Given the description of an element on the screen output the (x, y) to click on. 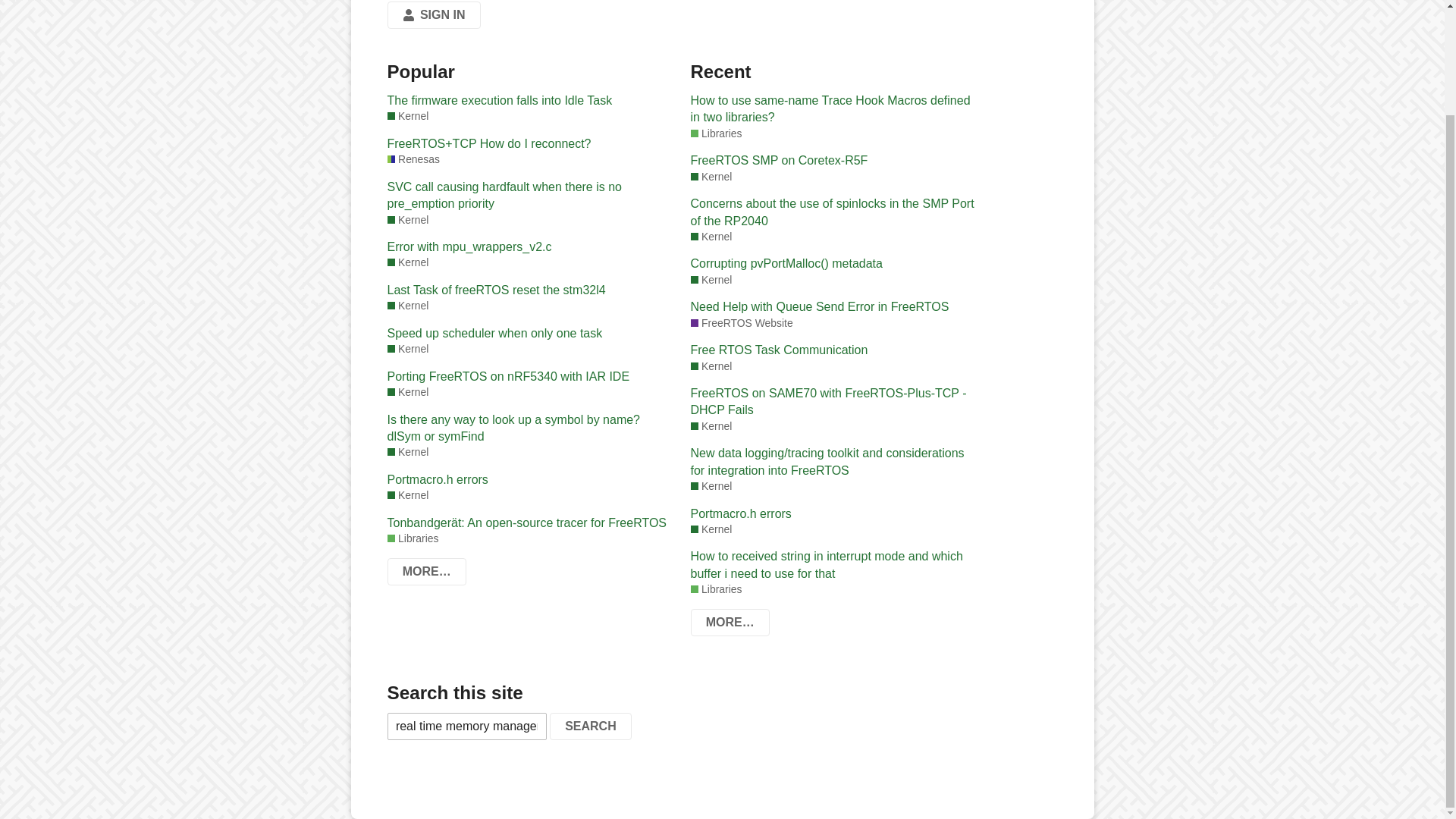
Speed up scheduler when only one task (531, 333)
Conversation focused around the FreeRTOS kernel. (711, 237)
Kernel (711, 366)
Need Help with Queue Send Error in FreeRTOS (834, 306)
All issues related to the FreeRTOS Website. (741, 323)
real time memory manager (466, 726)
SIGN IN (433, 14)
Conversation focused around the FreeRTOS kernel. (407, 452)
Kernel (407, 305)
Conversation focused around the FreeRTOS kernel. (407, 495)
Portmacro.h errors (531, 479)
Kernel (407, 115)
Conversation focused around the FreeRTOS kernel. (711, 279)
Renesas (413, 159)
Conversation focused around the FreeRTOS kernel. (711, 176)
